Given the description of an element on the screen output the (x, y) to click on. 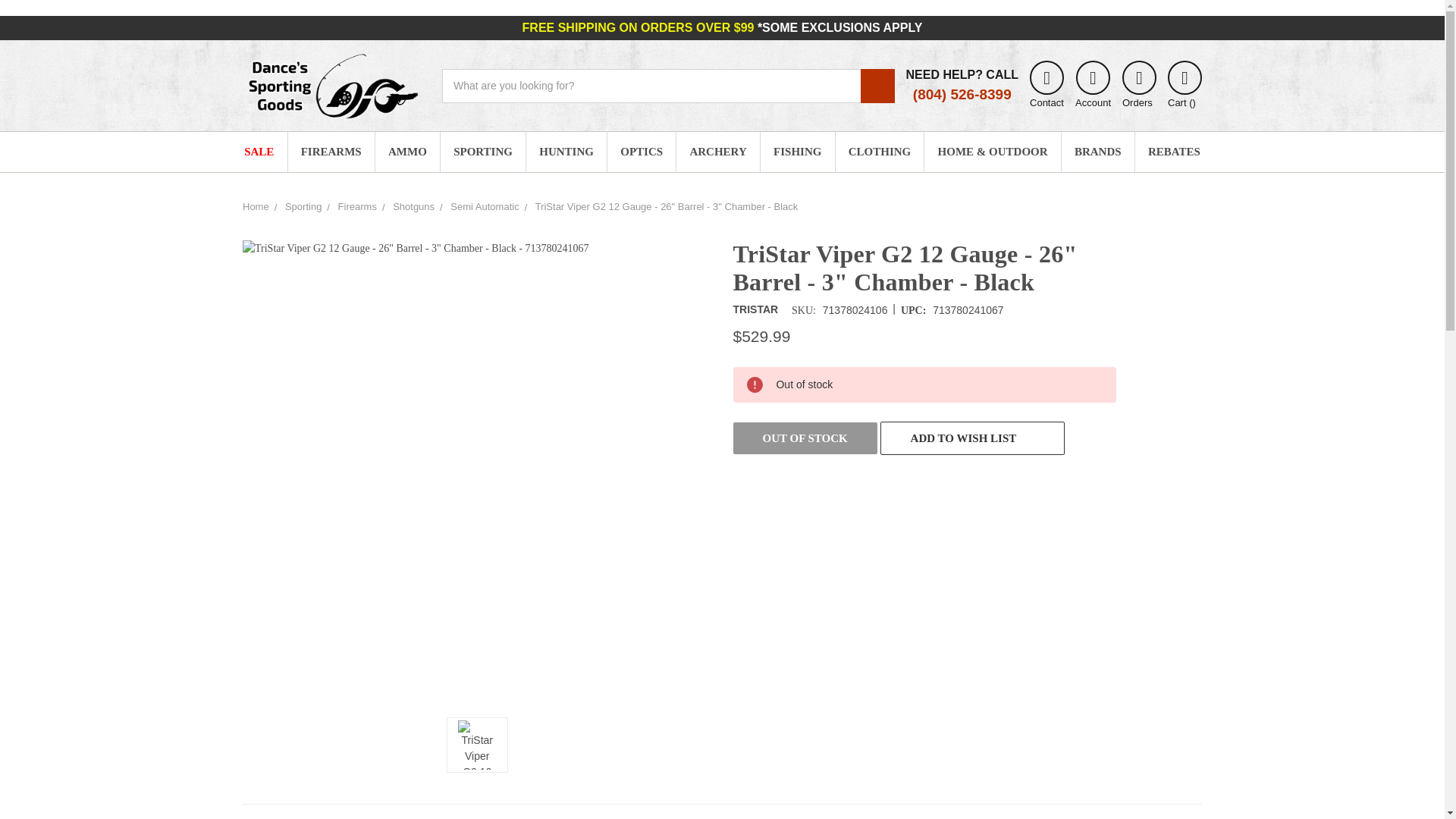
Dance's Sporting Goods (331, 85)
SALE (258, 151)
AMMO (407, 151)
FIREARMS (331, 151)
